Given the description of an element on the screen output the (x, y) to click on. 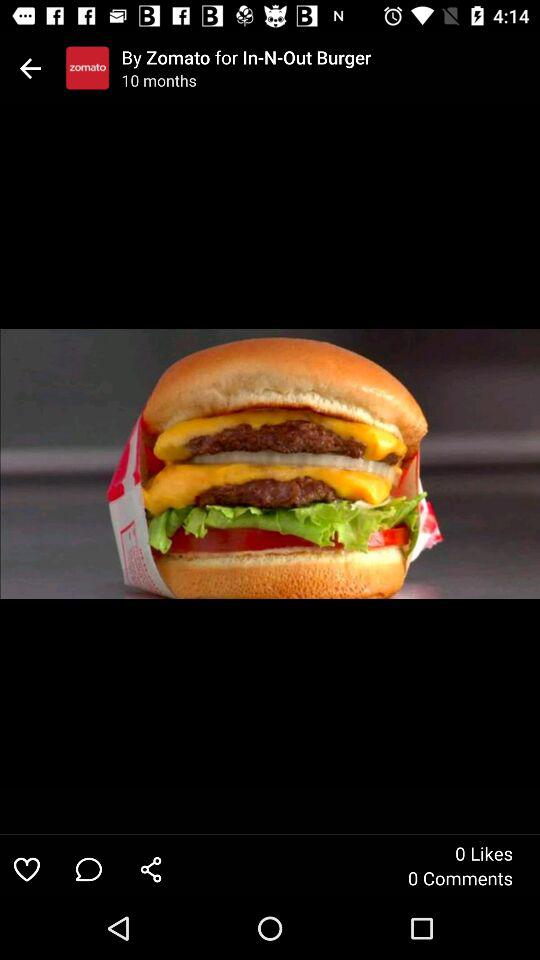
launch the item to the left of by zomato for (87, 68)
